Given the description of an element on the screen output the (x, y) to click on. 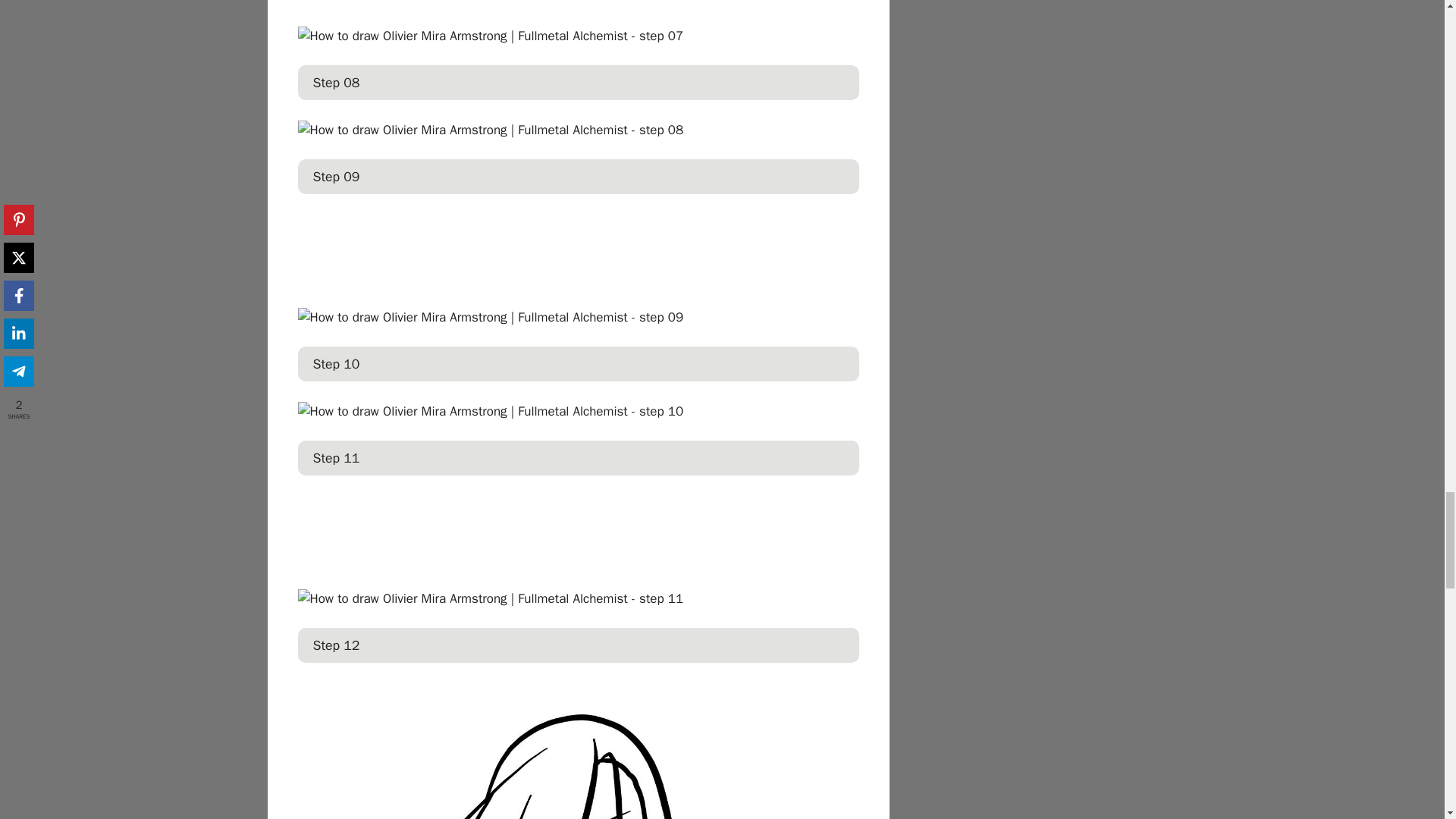
How to draw Olivier Mira Armstrong (578, 751)
